Given the description of an element on the screen output the (x, y) to click on. 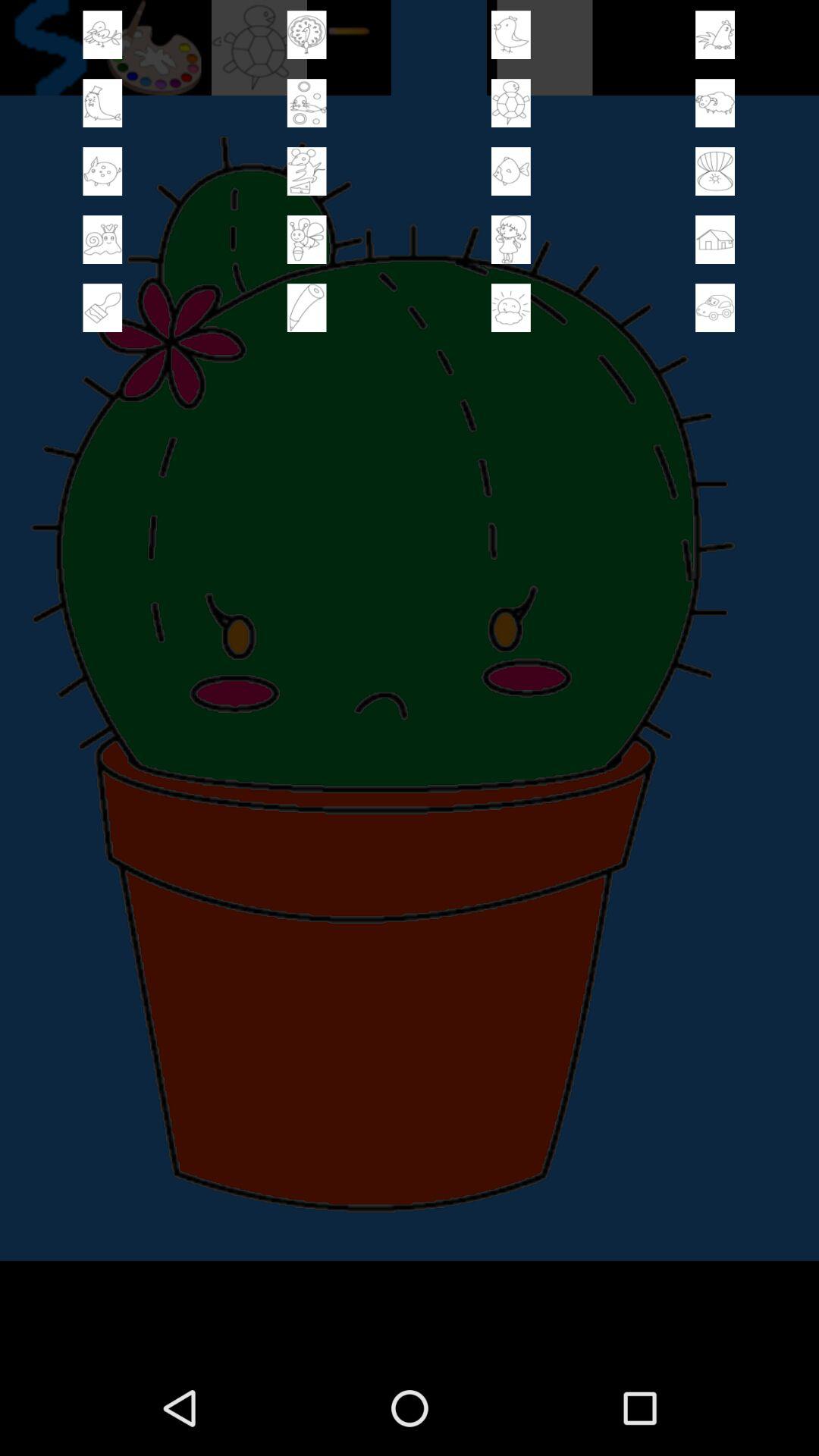
select card (715, 307)
